Given the description of an element on the screen output the (x, y) to click on. 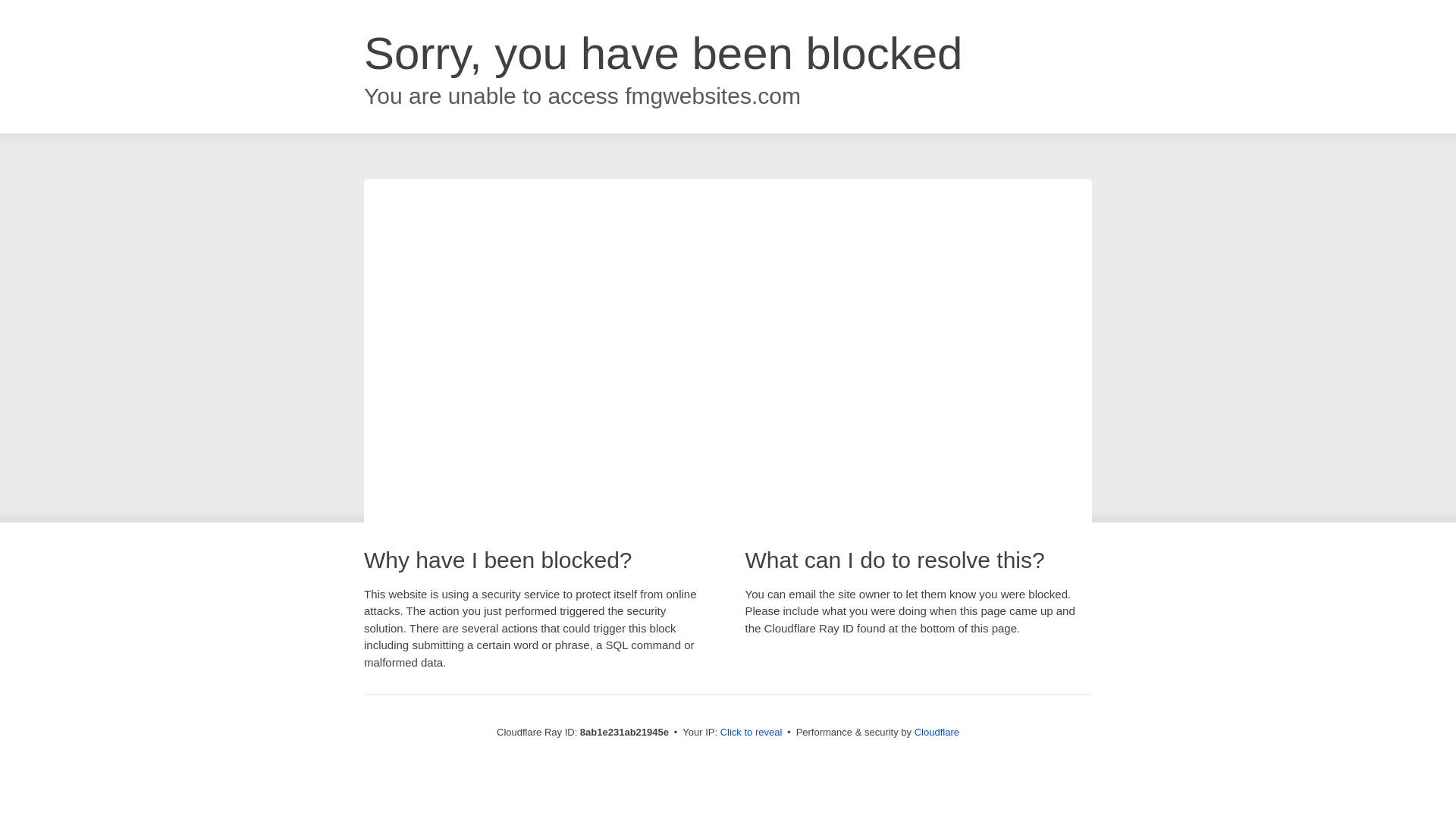
Cloudflare (936, 731)
Click to reveal (751, 732)
